Given the description of an element on the screen output the (x, y) to click on. 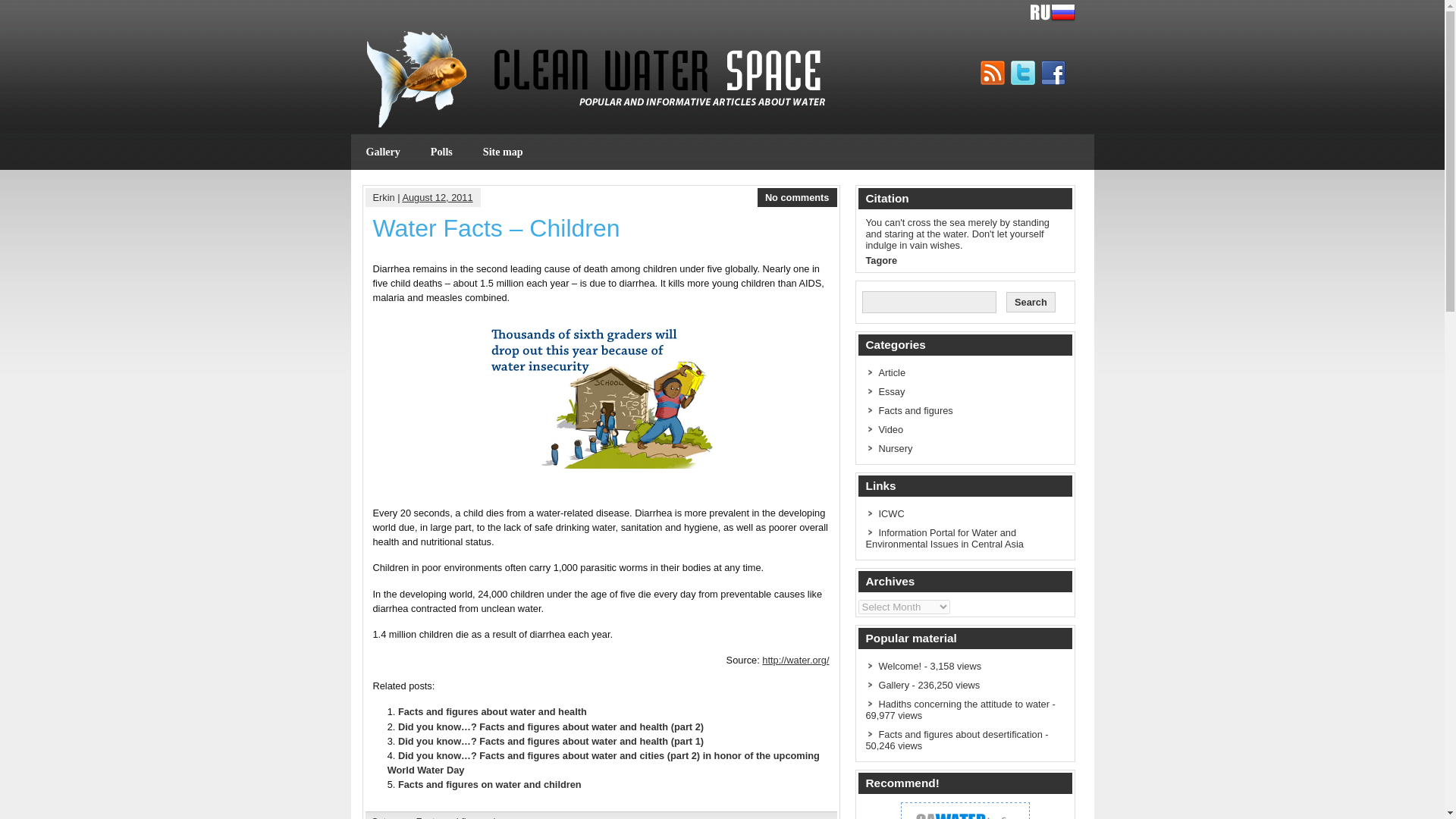
Video (889, 429)
Facts and figures (914, 410)
Essay (890, 391)
No comments (797, 197)
Polls (440, 151)
Facts and figures on water and children (488, 784)
Facts and figures (453, 817)
ICWC (890, 513)
Gallery (892, 685)
school2 (600, 392)
Facts and figures about desertification (959, 734)
Article (891, 372)
Facts and figures about desertification (959, 734)
Interstate Commission for Water Coordination of Central Asia (890, 513)
Welcome! (899, 665)
